Given the description of an element on the screen output the (x, y) to click on. 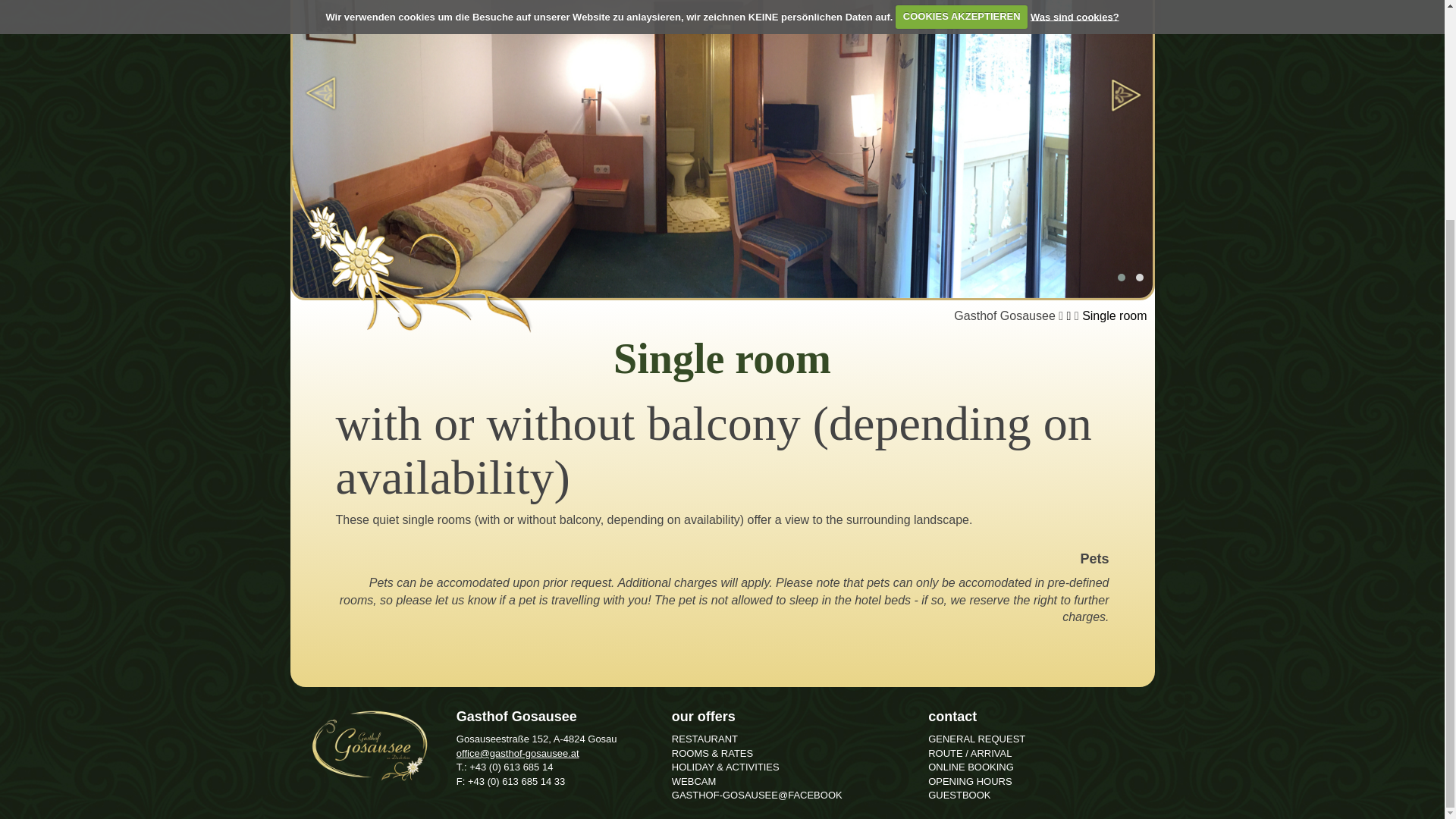
GUESTBOOK (959, 794)
ONLINE BOOKING (970, 767)
WEBCAM (693, 781)
Single room (1114, 315)
RESTAURANT (704, 738)
GENERAL REQUEST (976, 738)
OPENING HOURS (969, 781)
